Given the description of an element on the screen output the (x, y) to click on. 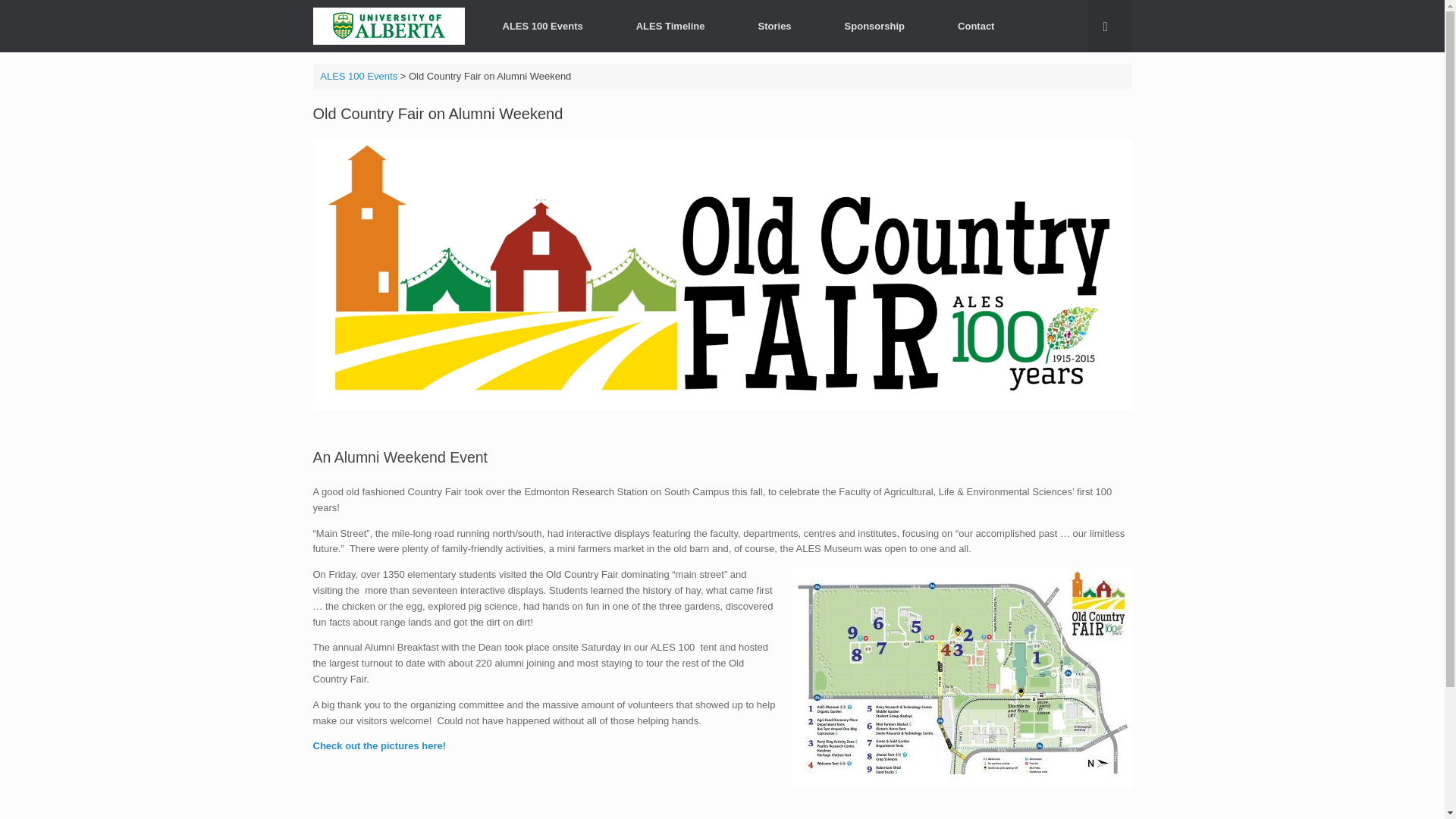
Check out the pictures here! (379, 745)
Go to ALES 100 Events. (358, 75)
Contact (975, 25)
ALES 100 Events (358, 75)
Stories (775, 25)
ALES 100 Events (543, 25)
Sponsorship (874, 25)
ALES Timeline (671, 25)
ALES 100 (388, 26)
